Given the description of an element on the screen output the (x, y) to click on. 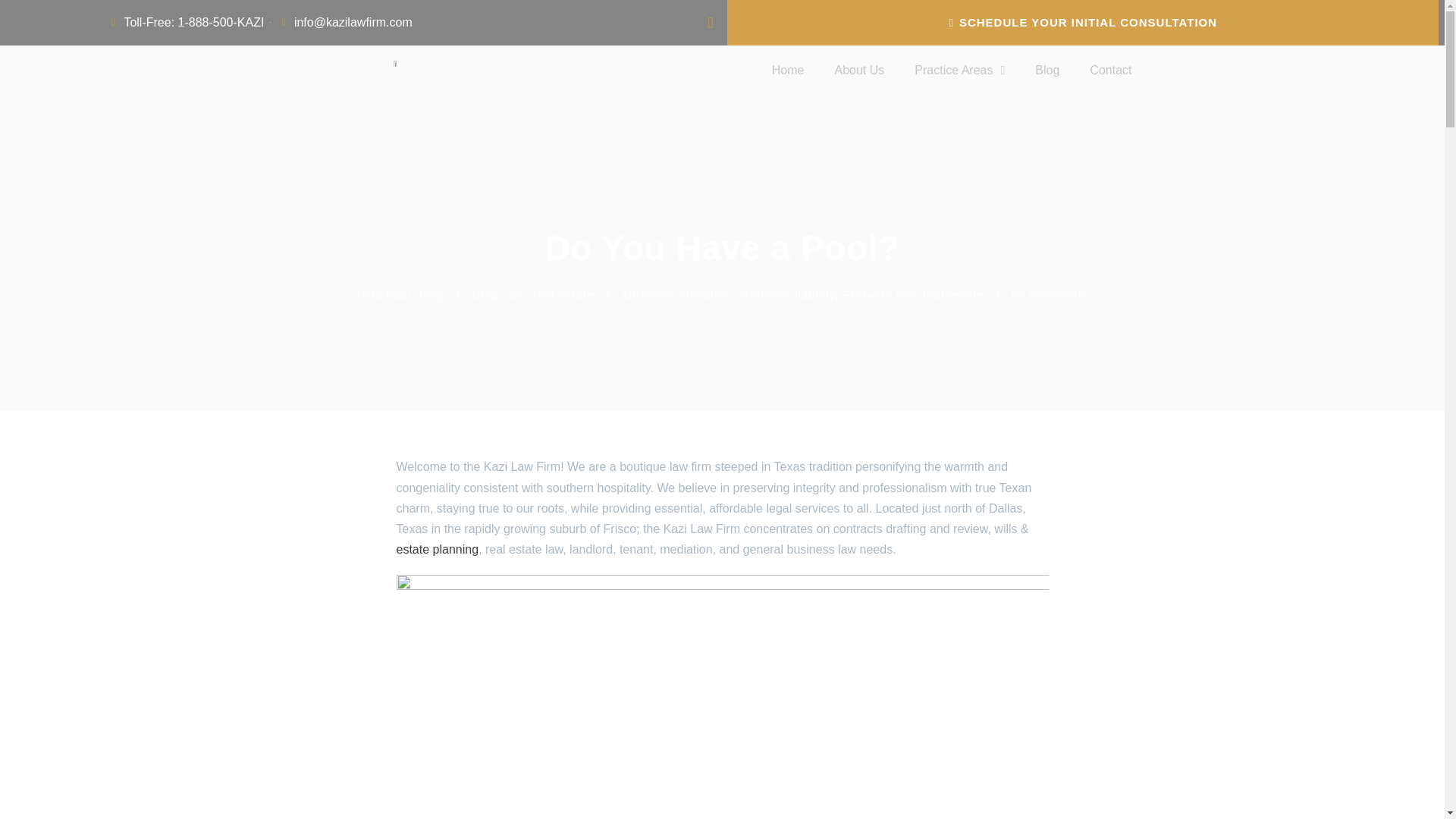
estate planning (437, 549)
Blog (1047, 70)
Contact (1110, 70)
Home (788, 70)
About Us (858, 70)
Posts by Nyla Kazi, Esq. (400, 294)
Toll-Free: 1-888-500-KAZI (184, 22)
Practice Areas (959, 70)
SCHEDULE YOUR INITIAL CONSULTATION (1082, 22)
